Given the description of an element on the screen output the (x, y) to click on. 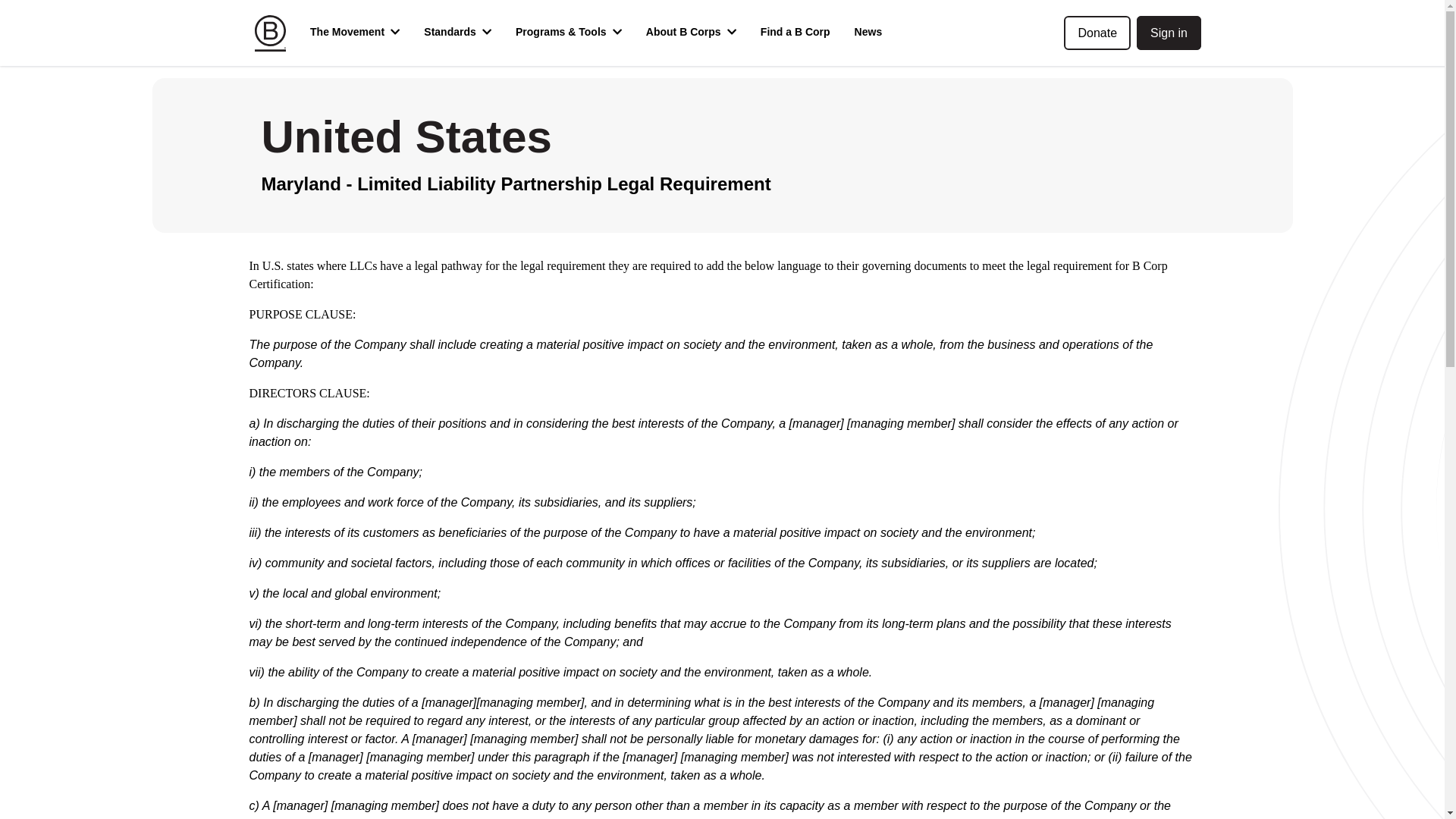
Find a B Corp (795, 33)
Donate (1097, 32)
Sign in (1169, 32)
News (869, 33)
